Given the description of an element on the screen output the (x, y) to click on. 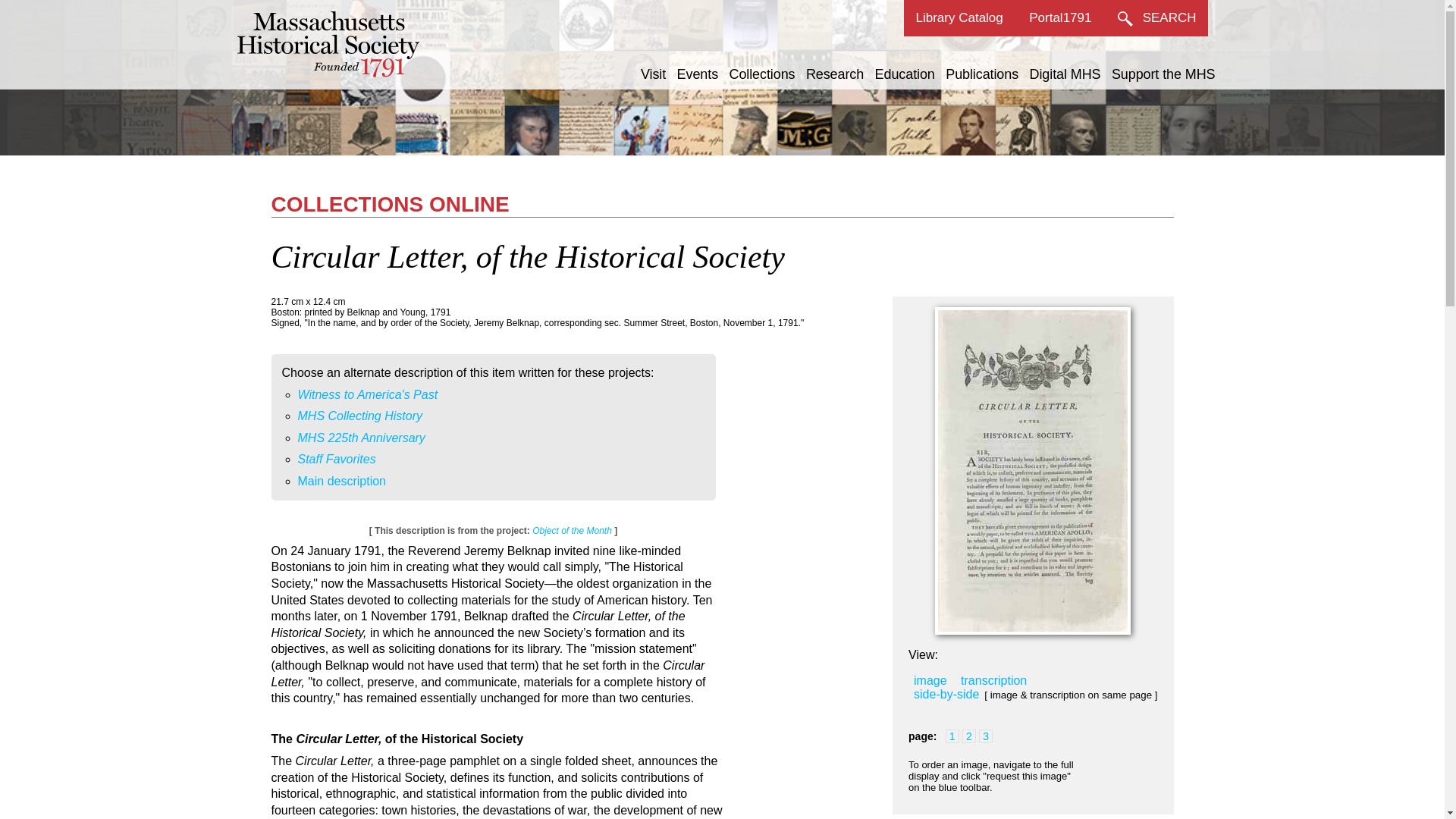
Object of the Month (571, 530)
side-by-side (946, 694)
Digital MHS (1065, 74)
SEARCH (1157, 18)
1 (952, 736)
Library Catalog (958, 18)
MHS Collecting History (359, 415)
Main description (341, 481)
3 (985, 736)
Support the MHS (1164, 74)
